Given the description of an element on the screen output the (x, y) to click on. 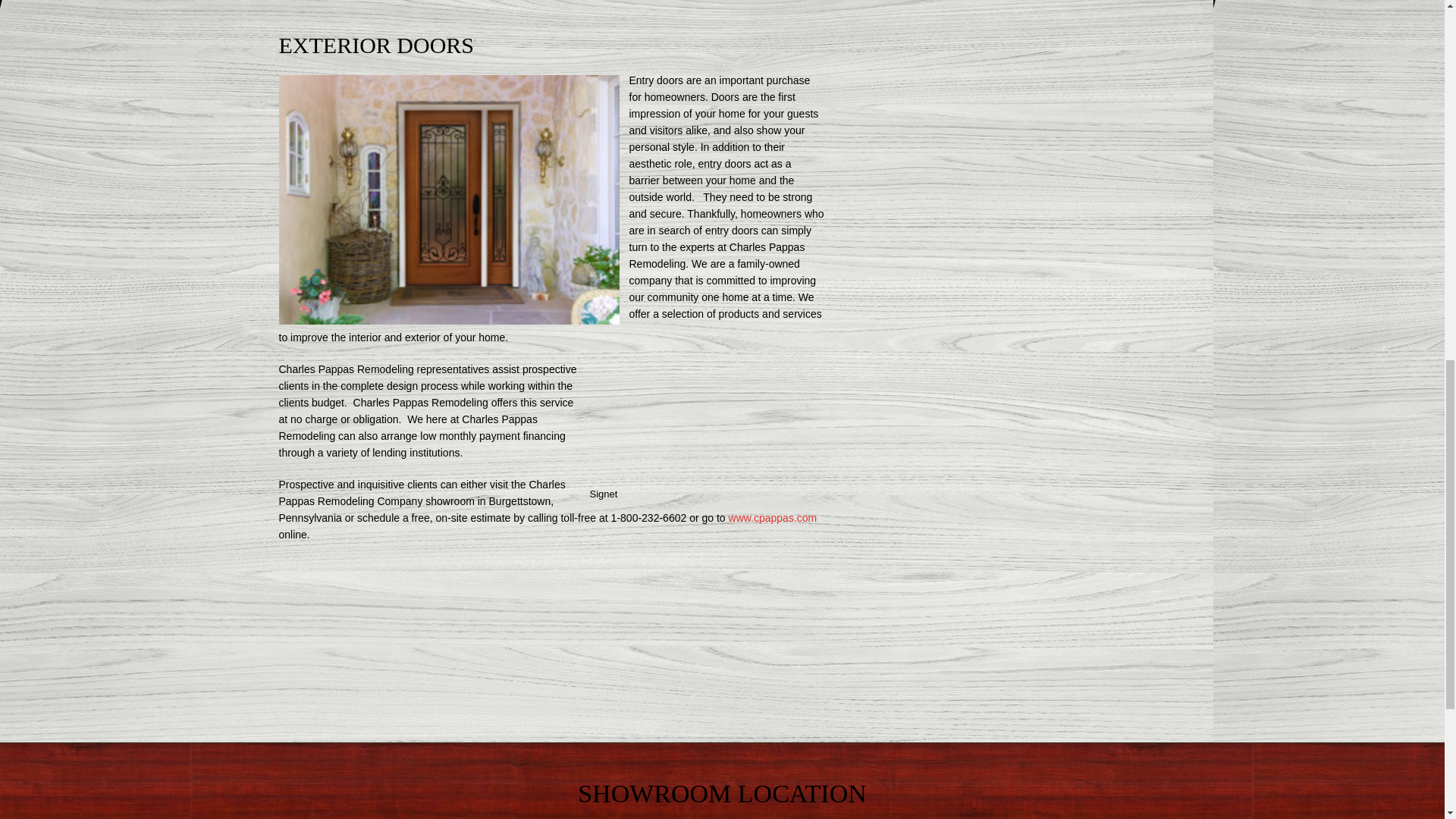
www.cpappas.com (772, 517)
